Given the description of an element on the screen output the (x, y) to click on. 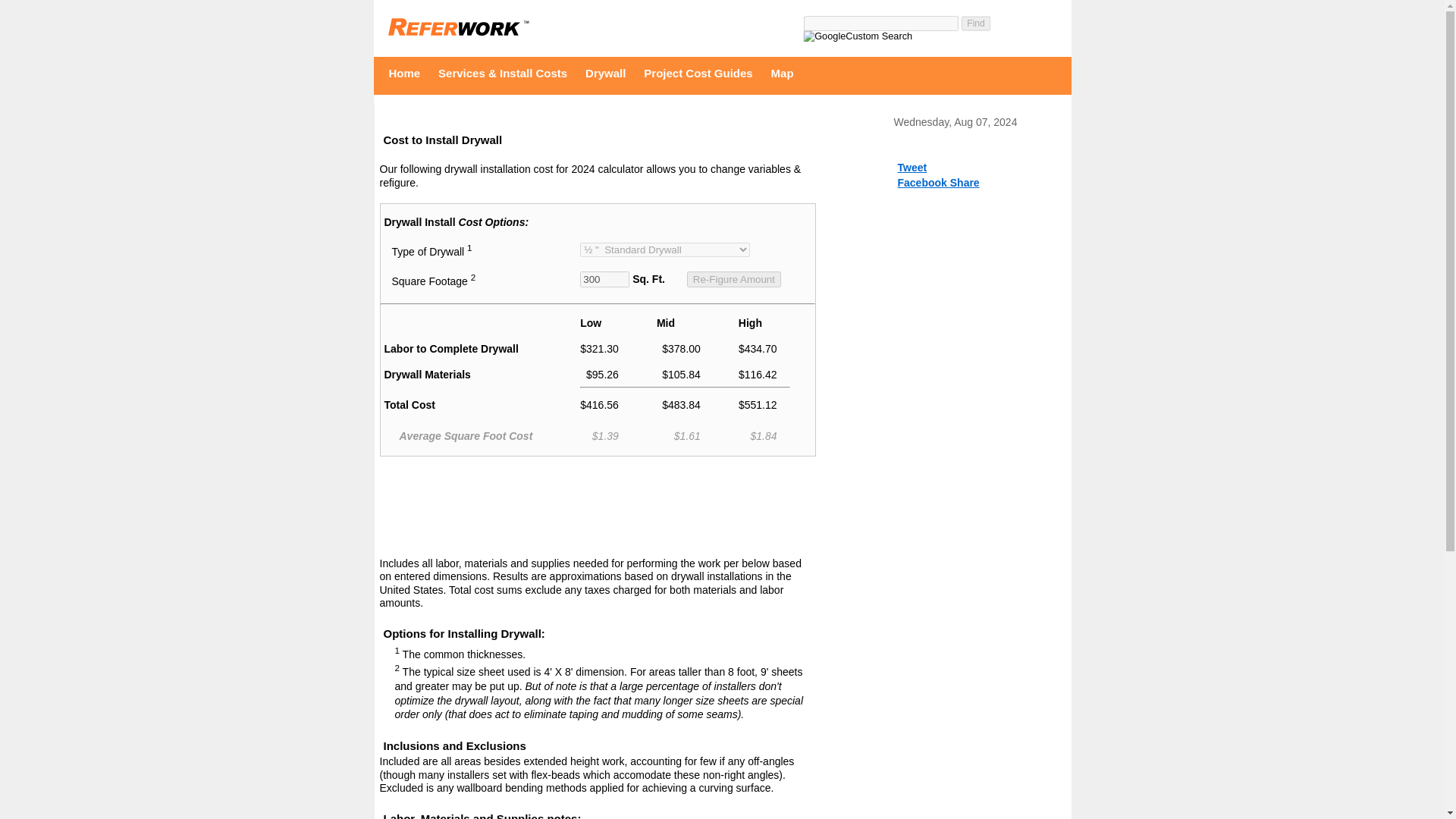
Home (408, 72)
Re-Figure Amount (733, 279)
Advertisement (596, 509)
Find (976, 23)
Project Cost Guides (701, 72)
Drywall (608, 72)
Tweet (912, 167)
Facebook Share (938, 182)
300 (603, 279)
Re-Figure Amount (733, 279)
